Given the description of an element on the screen output the (x, y) to click on. 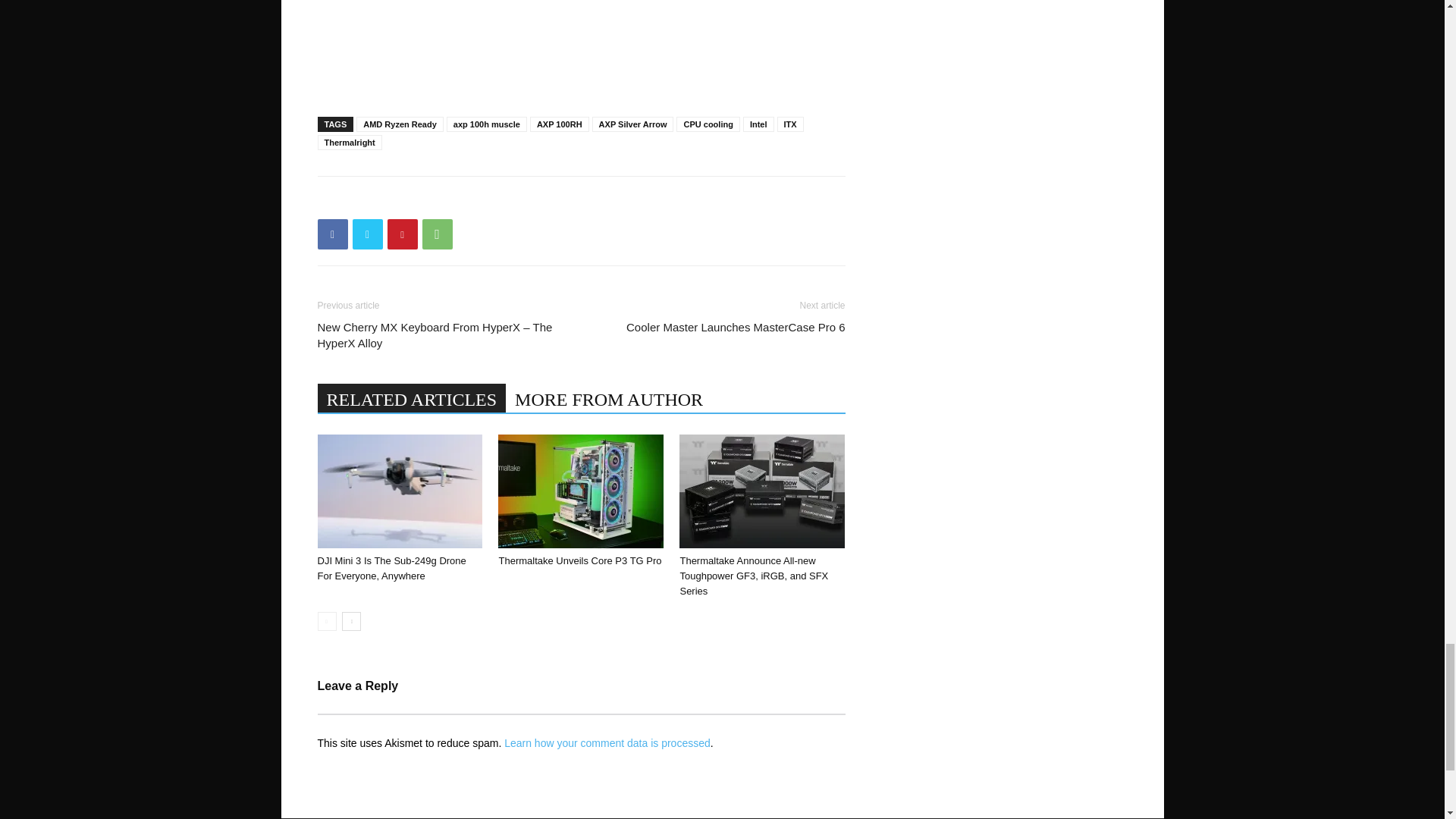
Facebook (332, 234)
bottomFacebookLike (430, 200)
